Given the description of an element on the screen output the (x, y) to click on. 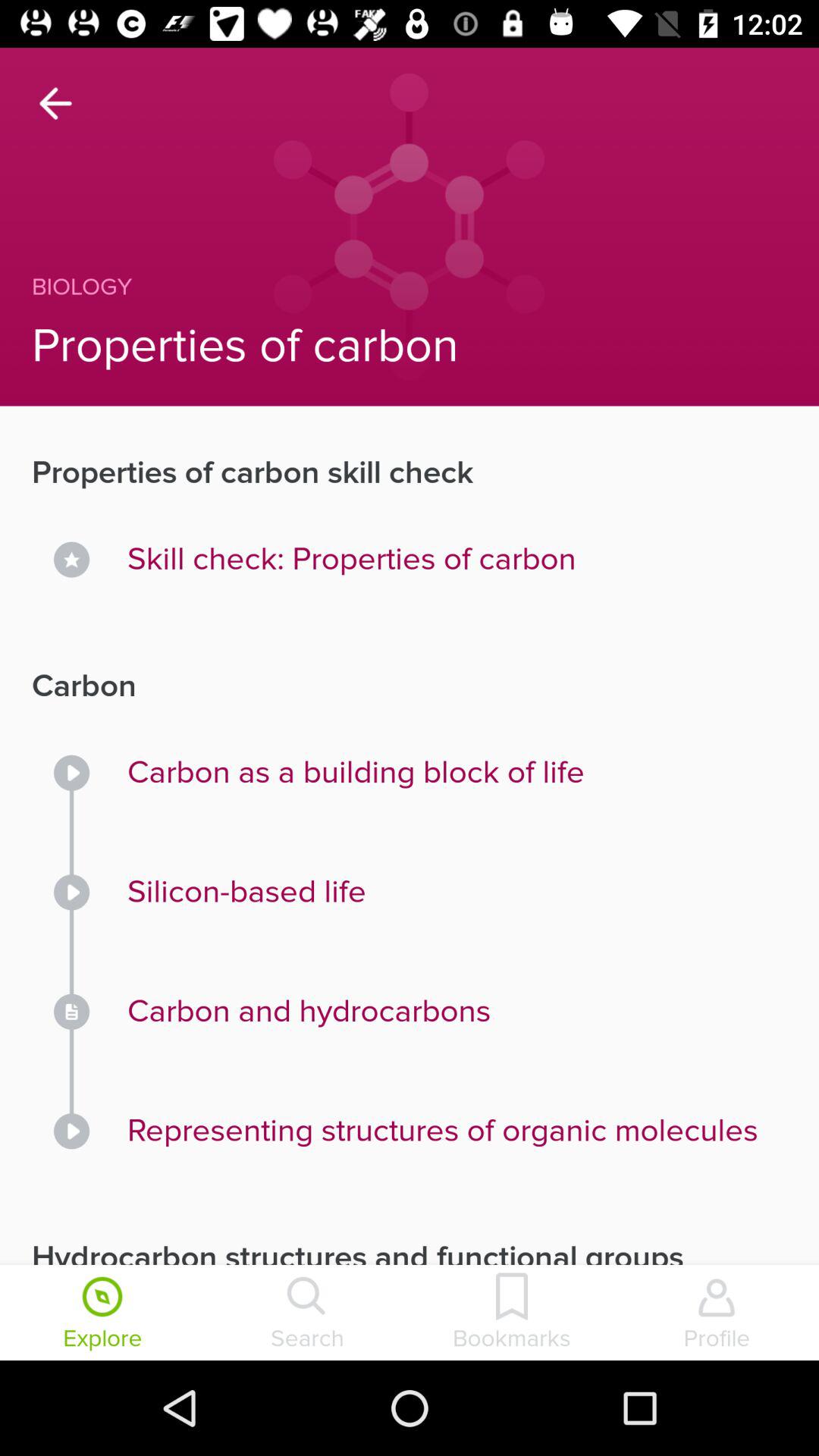
jump until search icon (306, 1314)
